Given the description of an element on the screen output the (x, y) to click on. 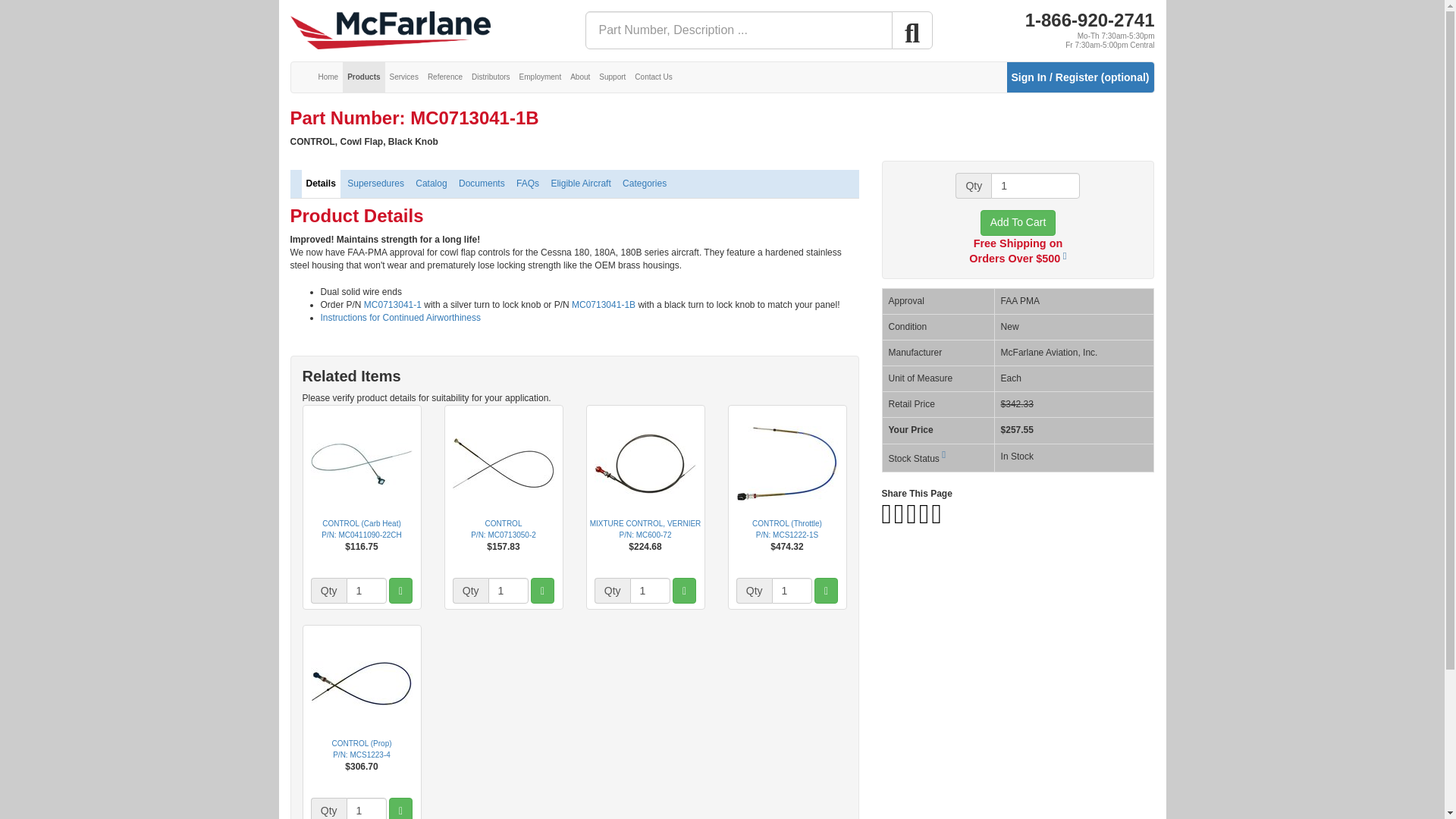
1 (366, 808)
MC0713041-1 (393, 304)
Share on Pinterest (913, 520)
Supersedures (375, 183)
Instructions for Continued Airworthiness (400, 317)
Details (320, 183)
Contact Us (653, 77)
Share on Facebook (885, 520)
Share via Email (935, 520)
Products (363, 77)
Support (612, 77)
1 (791, 590)
Services (404, 77)
About (580, 77)
Documents (481, 183)
